Given the description of an element on the screen output the (x, y) to click on. 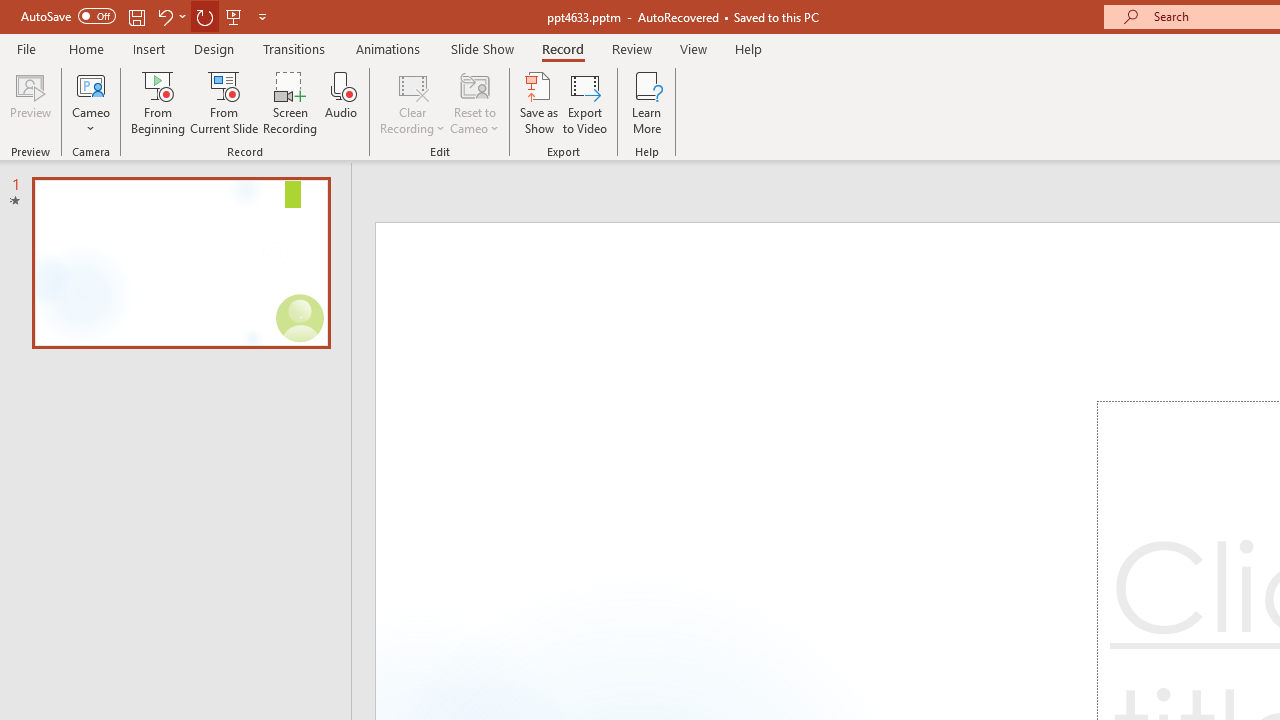
Customize Quick Access Toolbar (262, 15)
Quick Access Toolbar (145, 16)
Home (86, 48)
From Beginning (234, 15)
Cameo (91, 102)
Transitions (294, 48)
Undo (170, 15)
Audio (341, 102)
View (693, 48)
Screen Recording (290, 102)
Help (748, 48)
Save as Show (539, 102)
Learn More (646, 102)
System (10, 11)
From Beginning... (158, 102)
